Given the description of an element on the screen output the (x, y) to click on. 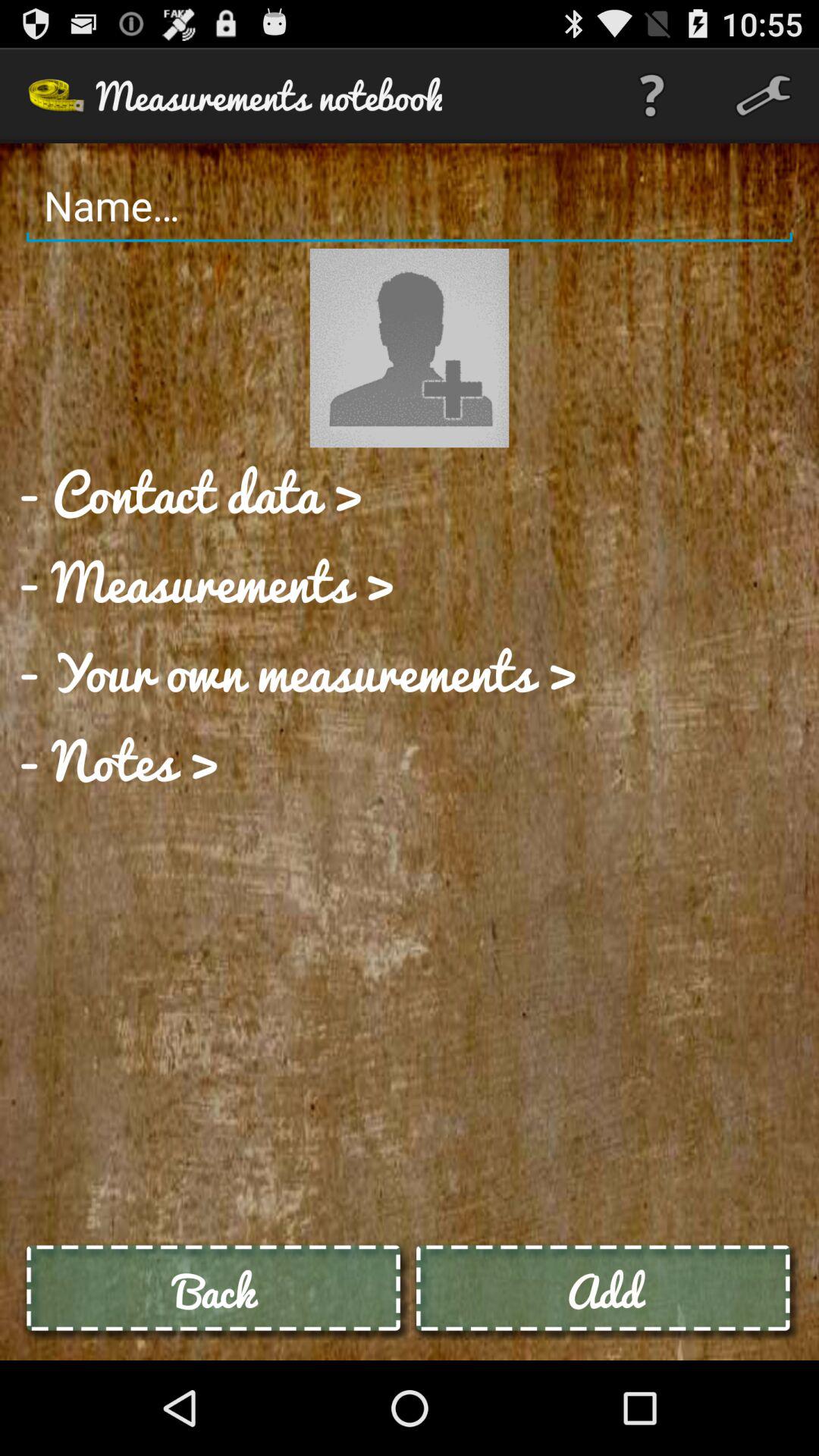
jump until - contact data > app (190, 491)
